Given the description of an element on the screen output the (x, y) to click on. 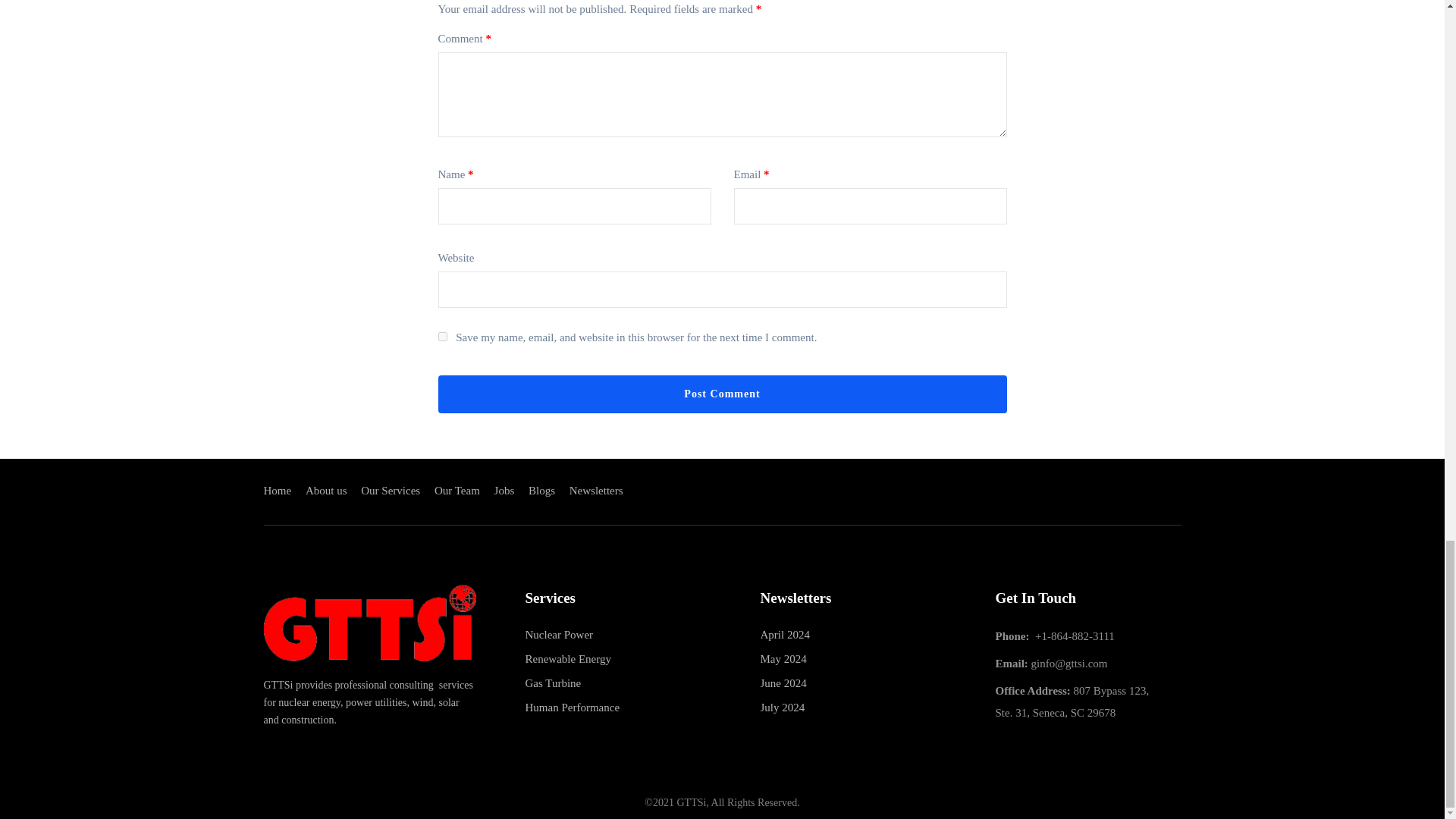
yes (442, 336)
Post Comment (722, 394)
Post Comment (722, 394)
